Given the description of an element on the screen output the (x, y) to click on. 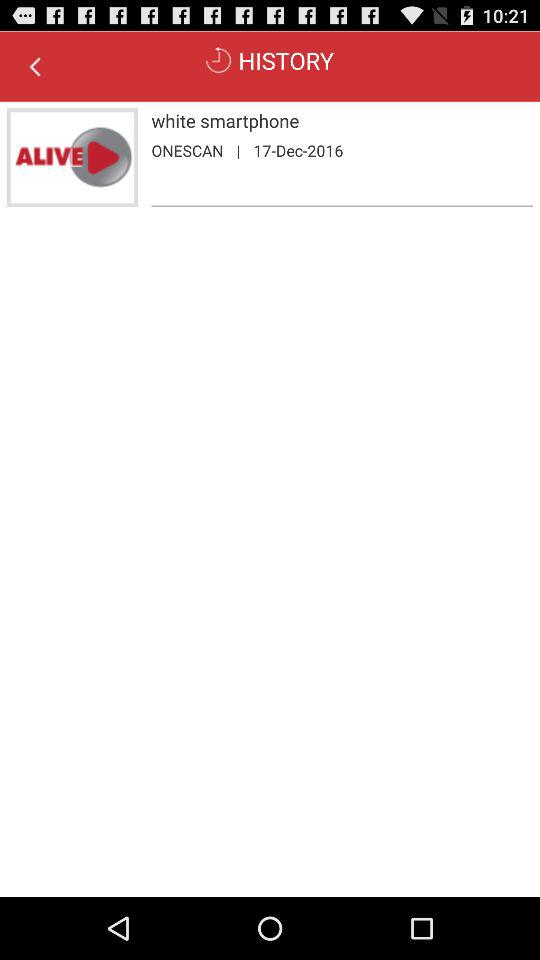
open | (238, 150)
